Given the description of an element on the screen output the (x, y) to click on. 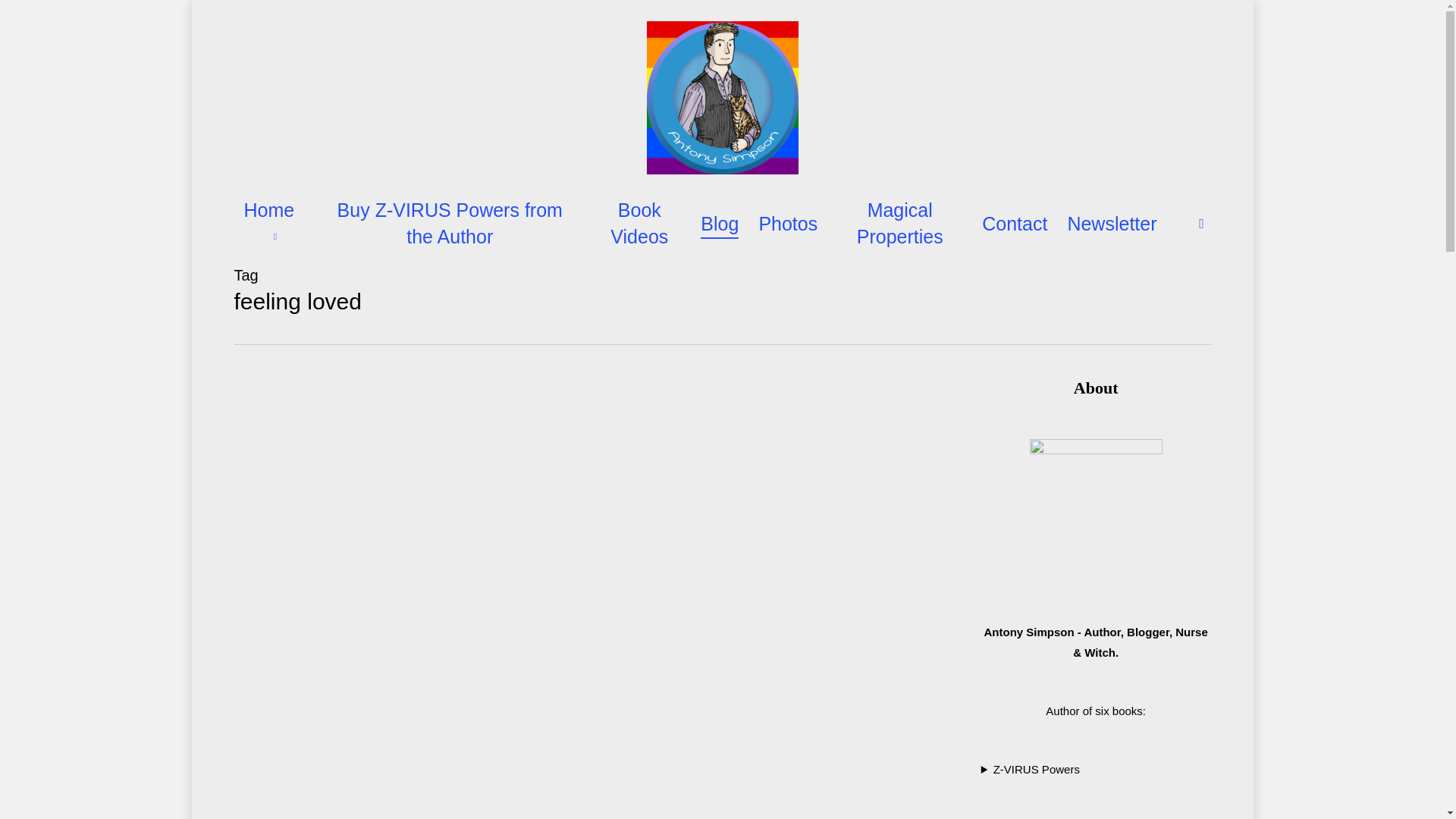
Book Videos (638, 223)
Home (273, 223)
Newsletter (1111, 223)
Buy Z-VIRUS Powers from the Author (449, 223)
Photos (787, 223)
Magical Properties (899, 223)
Contact (1013, 223)
search (1200, 223)
Blog (719, 223)
